Given the description of an element on the screen output the (x, y) to click on. 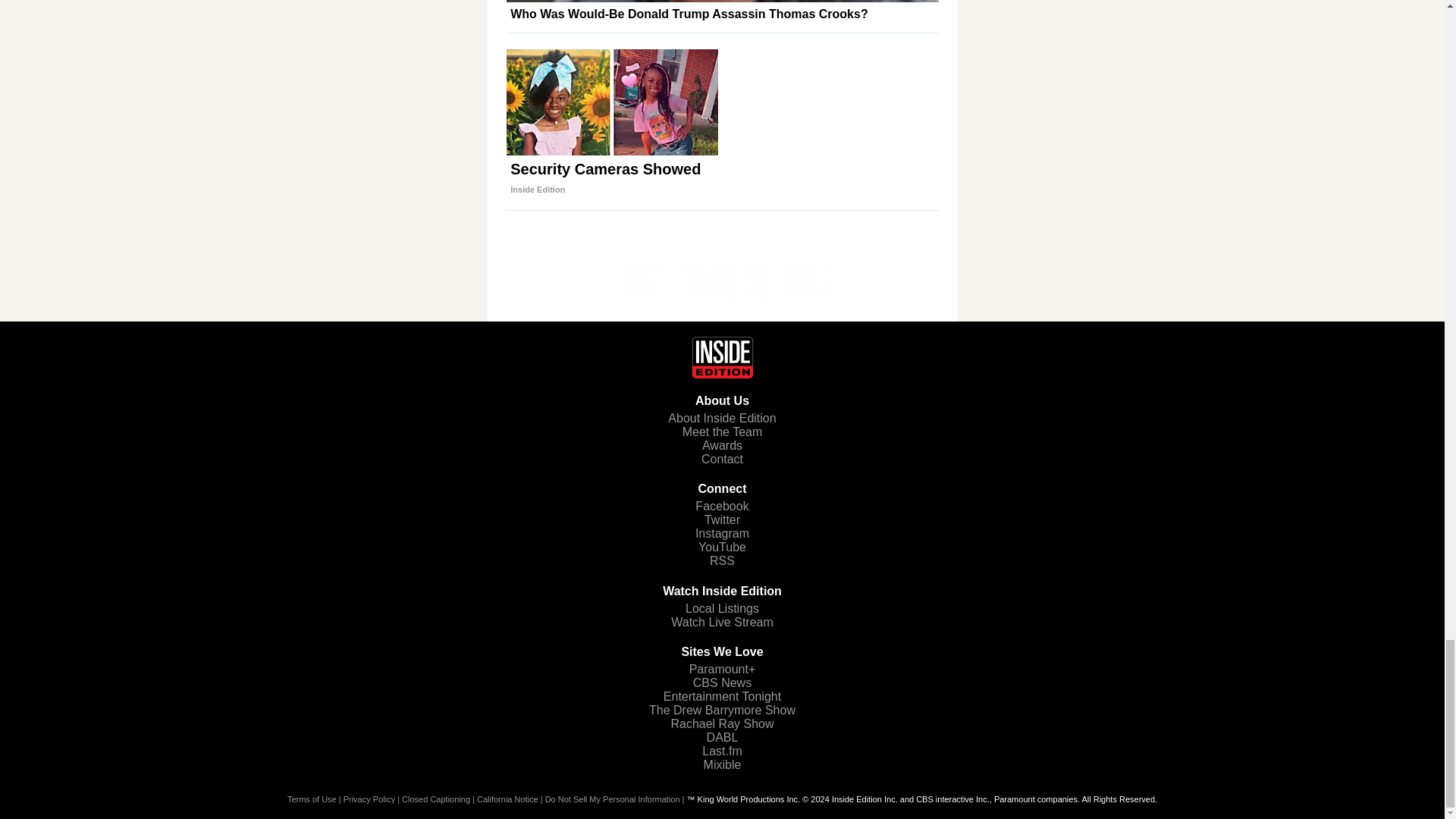
The Drew Barrymore Show (721, 709)
Local Listings (721, 608)
Mixible (722, 764)
Rachael Ray Show (721, 723)
Watch Live Stream (722, 621)
Instagram (722, 533)
CBS News (722, 682)
Advertisement (722, 131)
Facebook (721, 505)
3rd party ad content (721, 281)
Awards (721, 445)
RSS (722, 560)
About Inside Edition (722, 418)
Twitter (721, 519)
Last.fm (721, 750)
